Given the description of an element on the screen output the (x, y) to click on. 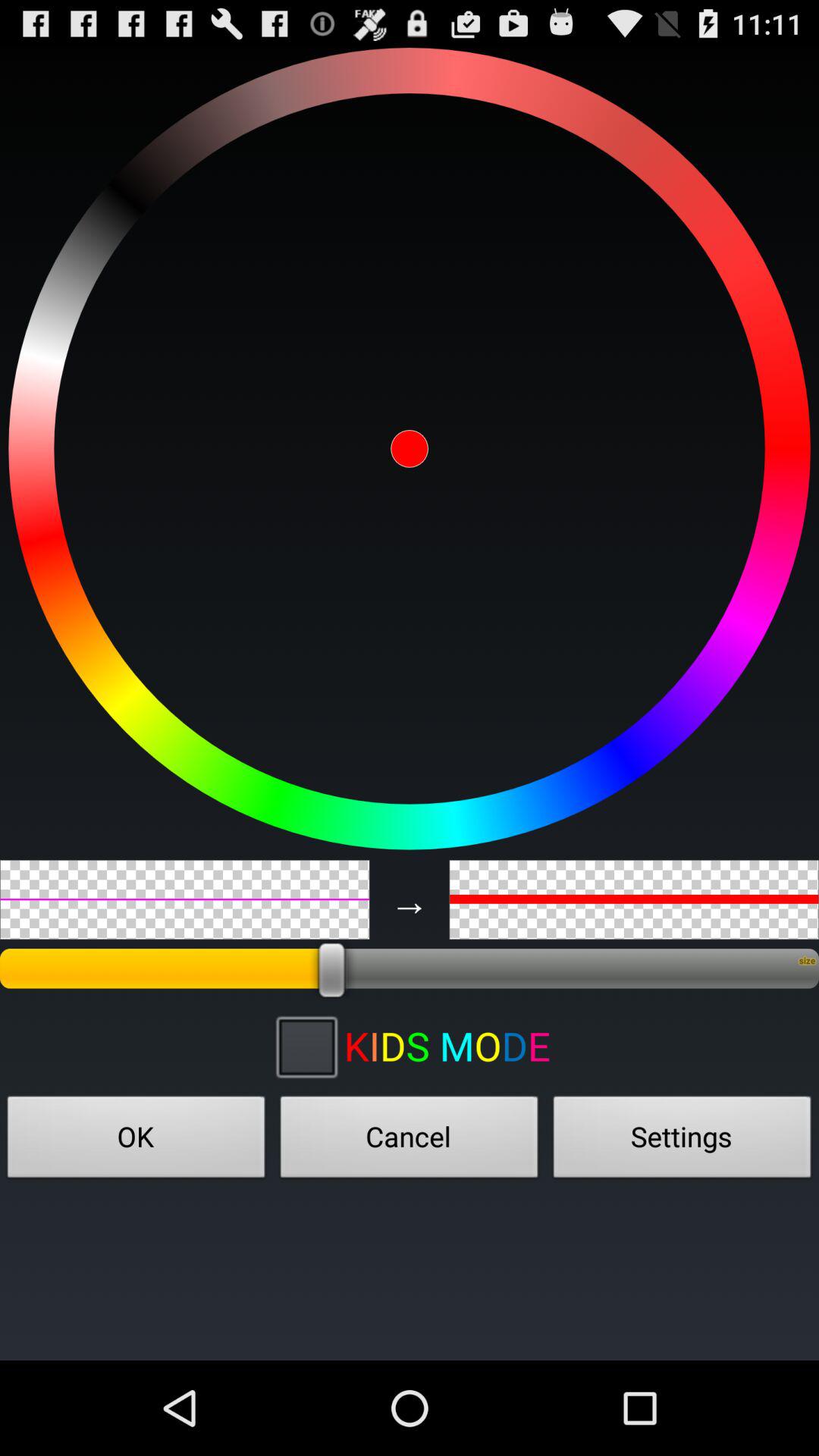
jump to the settings (682, 1141)
